Given the description of an element on the screen output the (x, y) to click on. 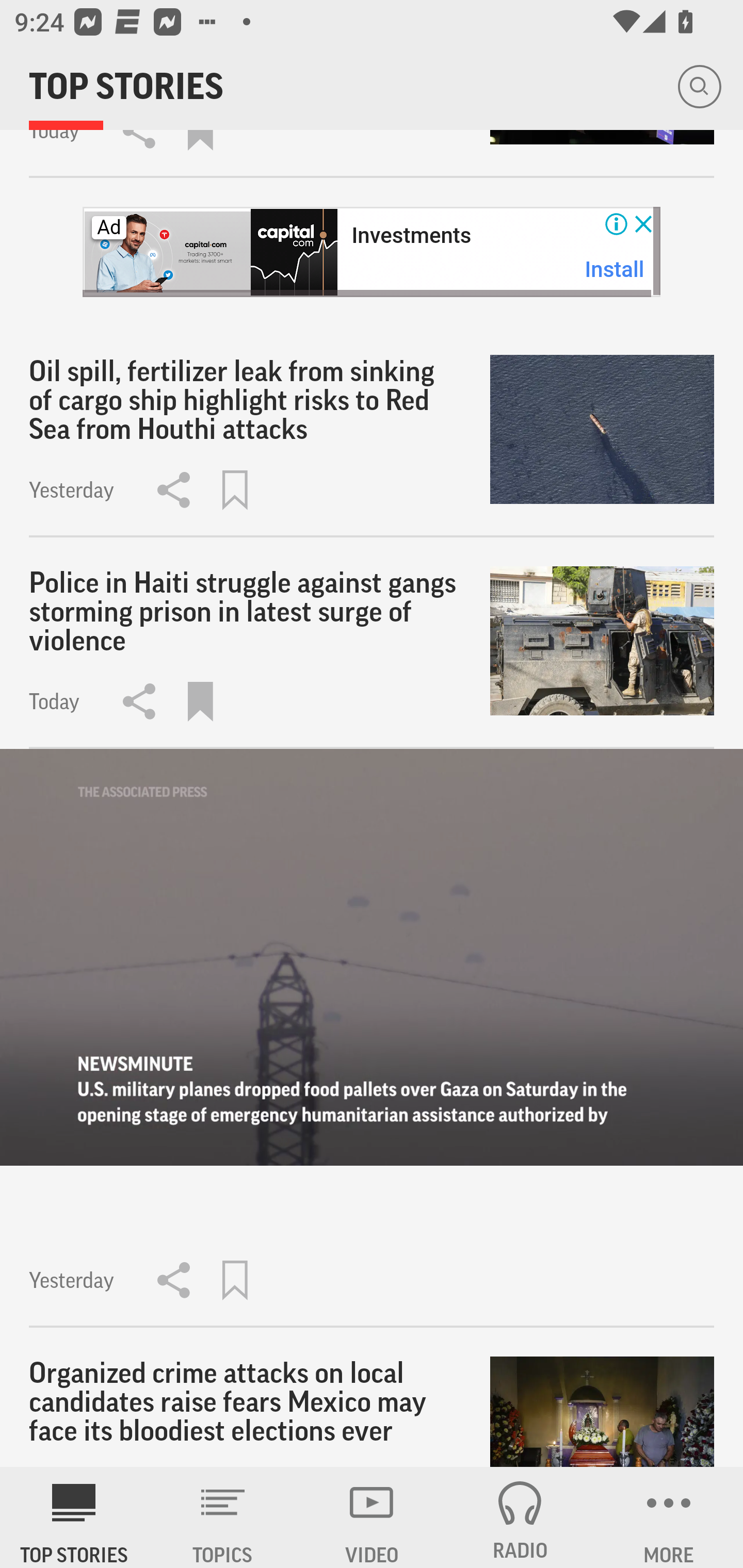
Investments (410, 235)
Install (614, 269)
toggle controls Yesterday (371, 1038)
toggle controls (371, 957)
AP News TOP STORIES (74, 1517)
TOPICS (222, 1517)
VIDEO (371, 1517)
RADIO (519, 1517)
MORE (668, 1517)
